Given the description of an element on the screen output the (x, y) to click on. 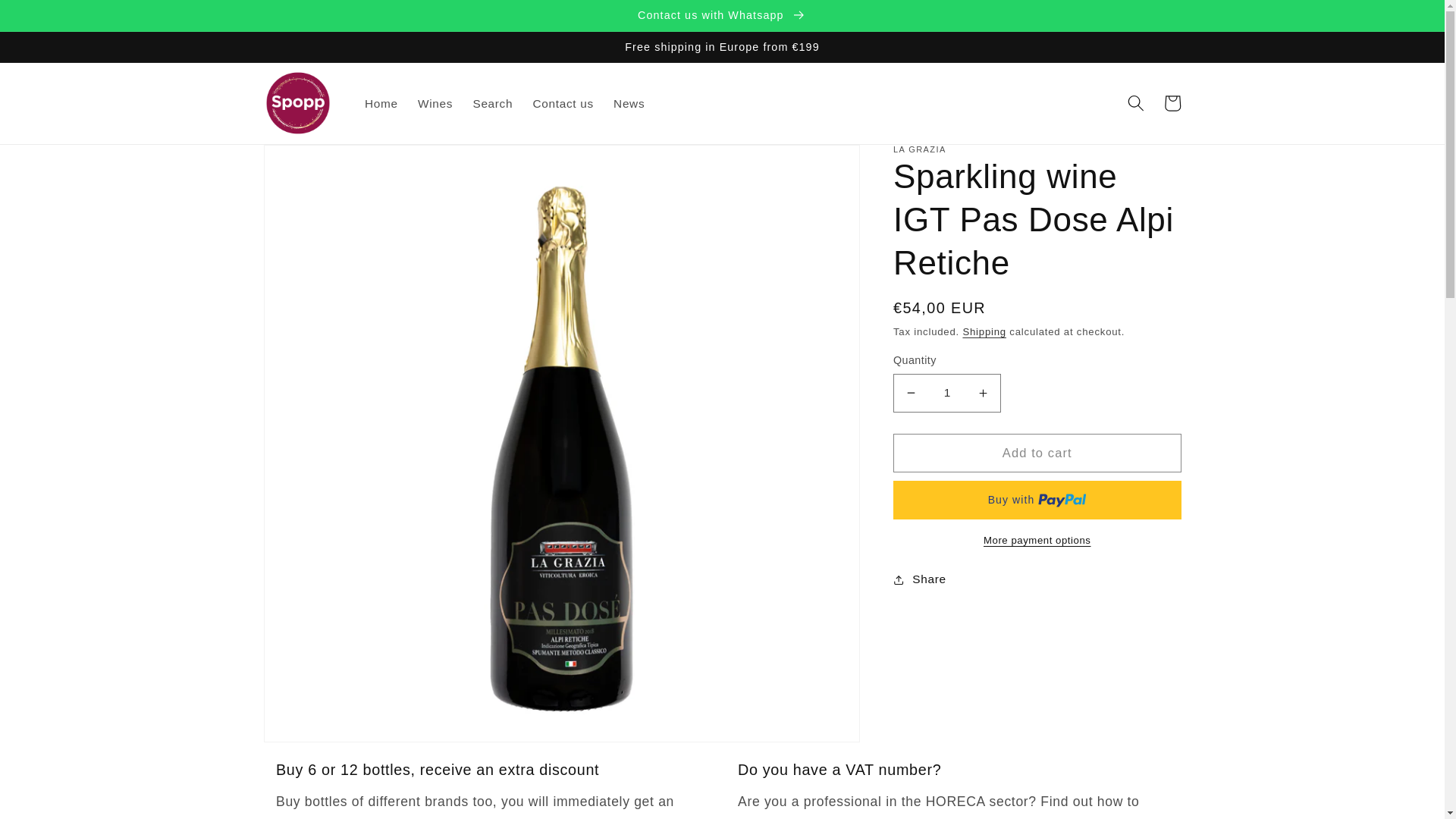
Skip to content (50, 19)
News (629, 102)
1 (947, 393)
Contact us (563, 102)
Shipping (984, 331)
Cart (1172, 103)
Skip to product information (313, 163)
Wines (435, 102)
Home (381, 102)
Contact Information (982, 817)
